Given the description of an element on the screen output the (x, y) to click on. 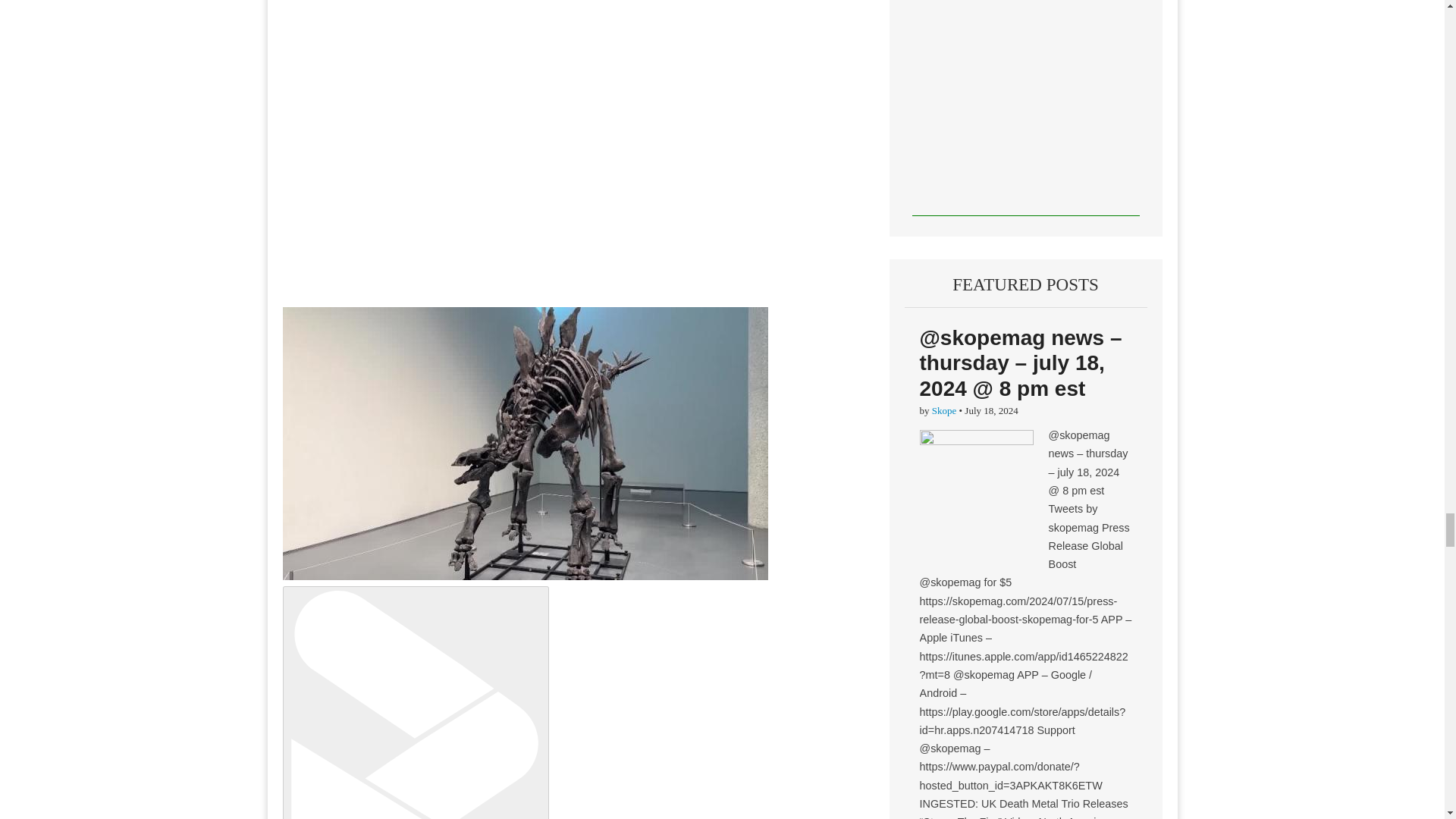
Posts by Skope (943, 410)
